Given the description of an element on the screen output the (x, y) to click on. 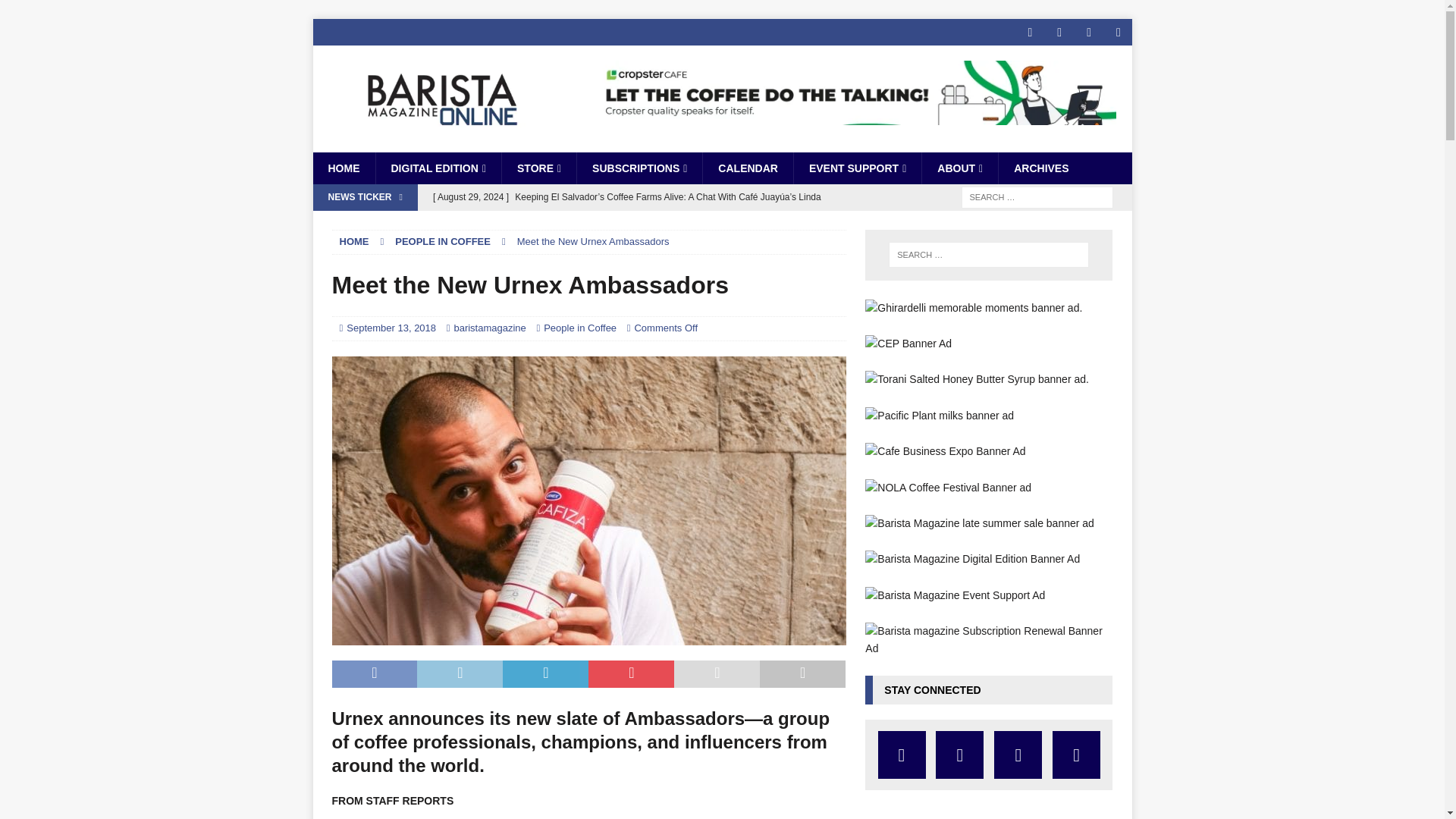
ARCHIVES (1040, 168)
Search (56, 11)
HOME (354, 241)
ABOUT (959, 168)
SUBSCRIPTIONS (638, 168)
HOME (343, 168)
DIGITAL EDITION (437, 168)
CALENDAR (747, 168)
PEOPLE IN COFFEE (442, 241)
